Given the description of an element on the screen output the (x, y) to click on. 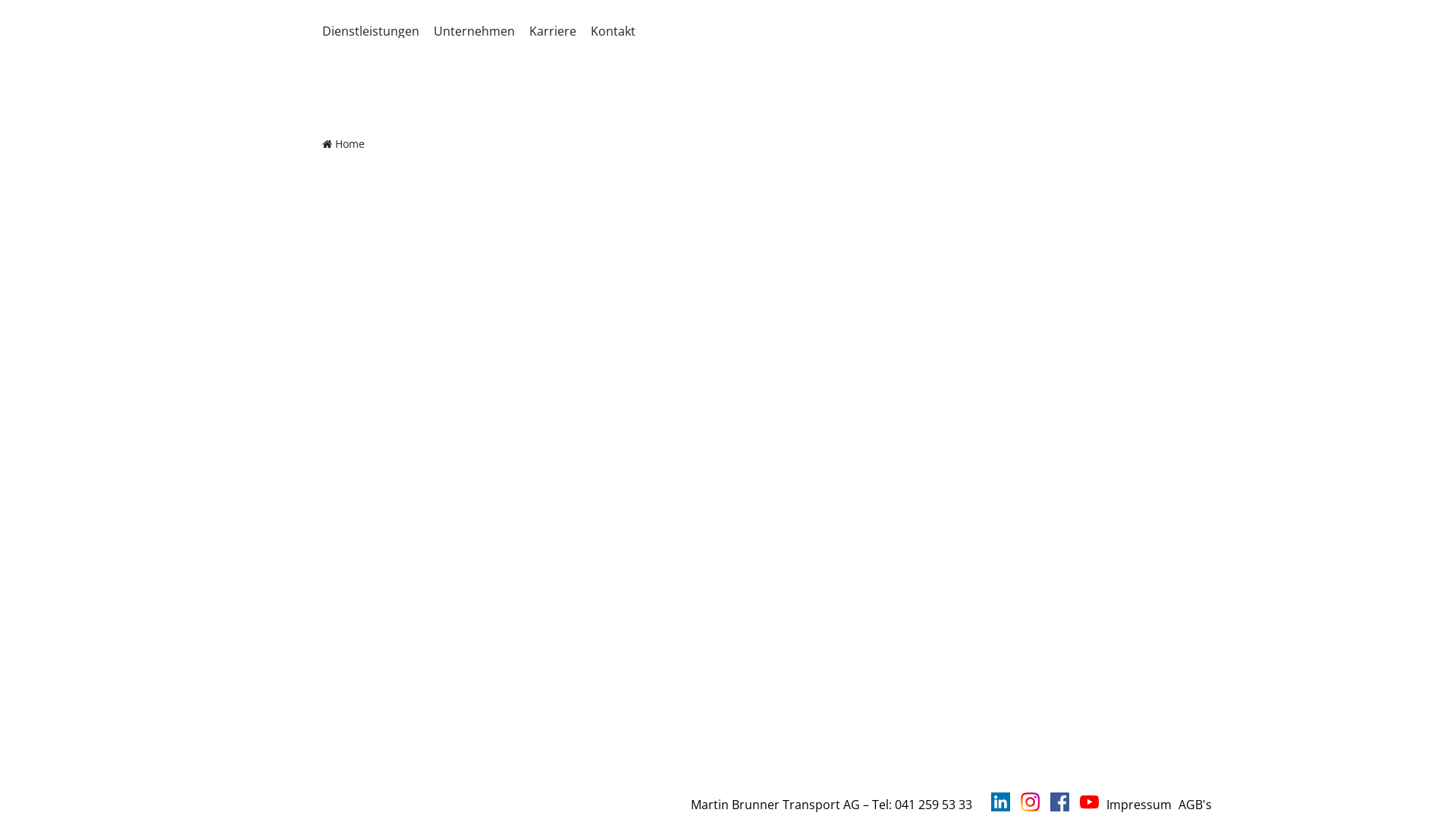
Dienstleistungen Element type: text (376, 30)
Home Element type: text (343, 143)
Kontakt Element type: text (618, 30)
Unternehmen Element type: text (479, 30)
AGB's Element type: text (1194, 804)
Impressum Element type: text (1138, 804)
Karriere Element type: text (558, 30)
